Given the description of an element on the screen output the (x, y) to click on. 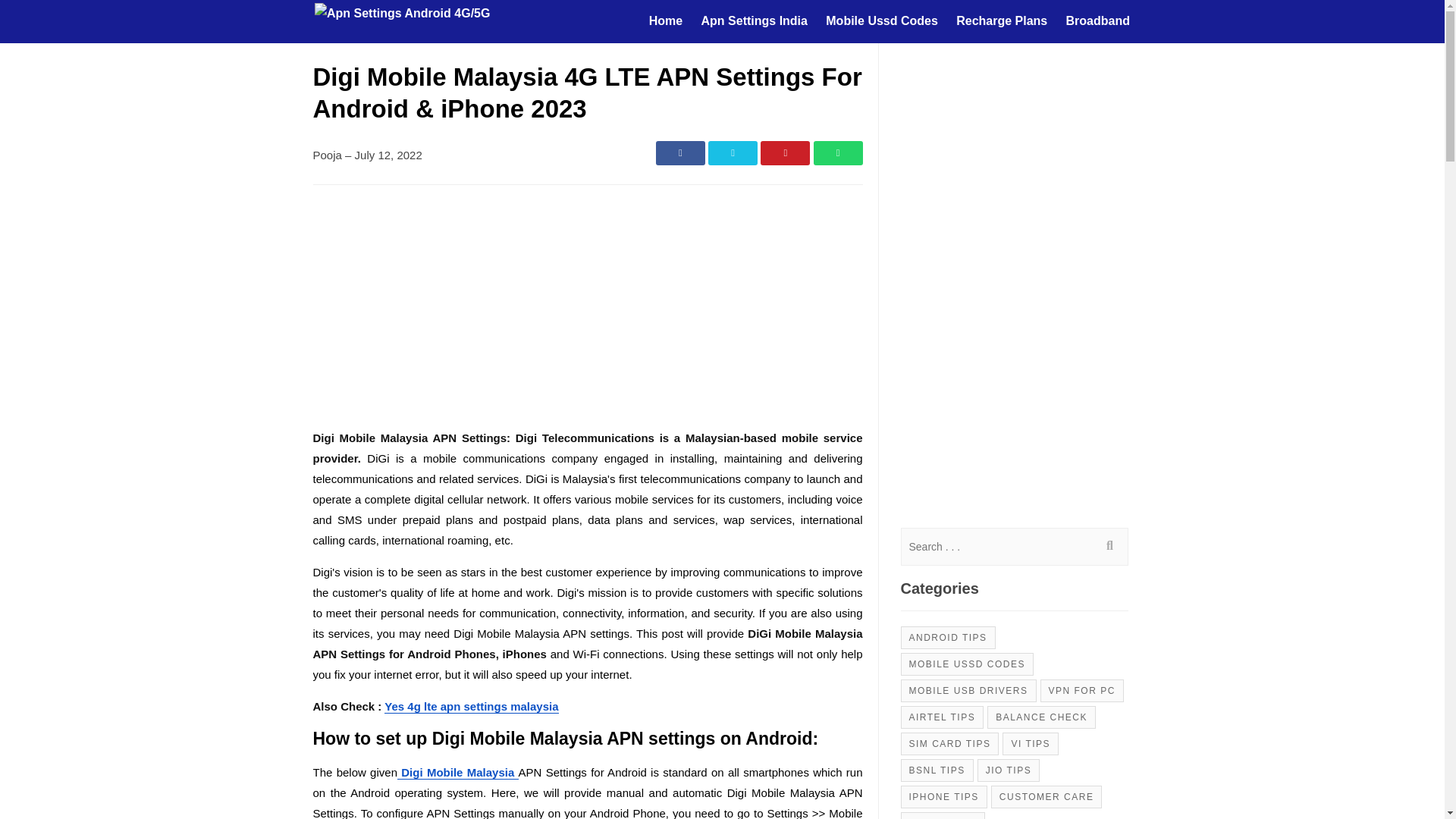
SIM CARD TIPS (949, 743)
JIO TIPS (1007, 769)
CUSTOMER CARE (1046, 796)
BALANCE CHECK (1041, 716)
Yes 4g lte apn settings malaysia (470, 706)
WhatsApp (836, 152)
IPHONE TIPS (944, 796)
BROADBAND (943, 815)
VI TIPS (1030, 743)
BSNL TIPS (937, 769)
ANDROID TIPS (948, 637)
AIRTEL TIPS (942, 716)
Digi Mobile Malaysia (457, 772)
2022-07-12T06:18:00-07:00 (388, 154)
MOBILE USB DRIVERS (968, 690)
